Given the description of an element on the screen output the (x, y) to click on. 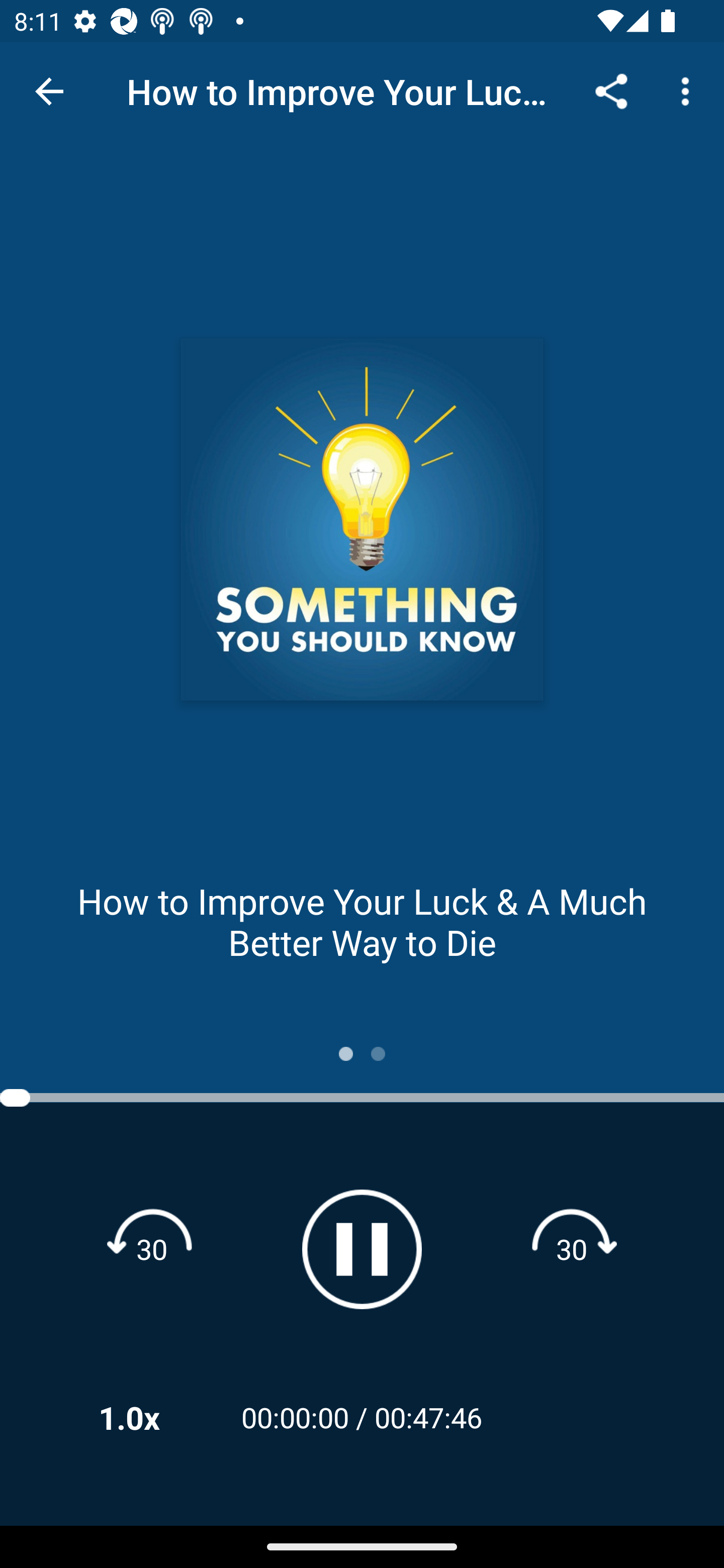
Navigate up (49, 91)
Share... (611, 90)
More options (688, 90)
Pause (361, 1249)
Rewind (151, 1248)
Fast forward (571, 1248)
1.0x Playback Speeds (154, 1417)
00:47:46 (428, 1417)
